Given the description of an element on the screen output the (x, y) to click on. 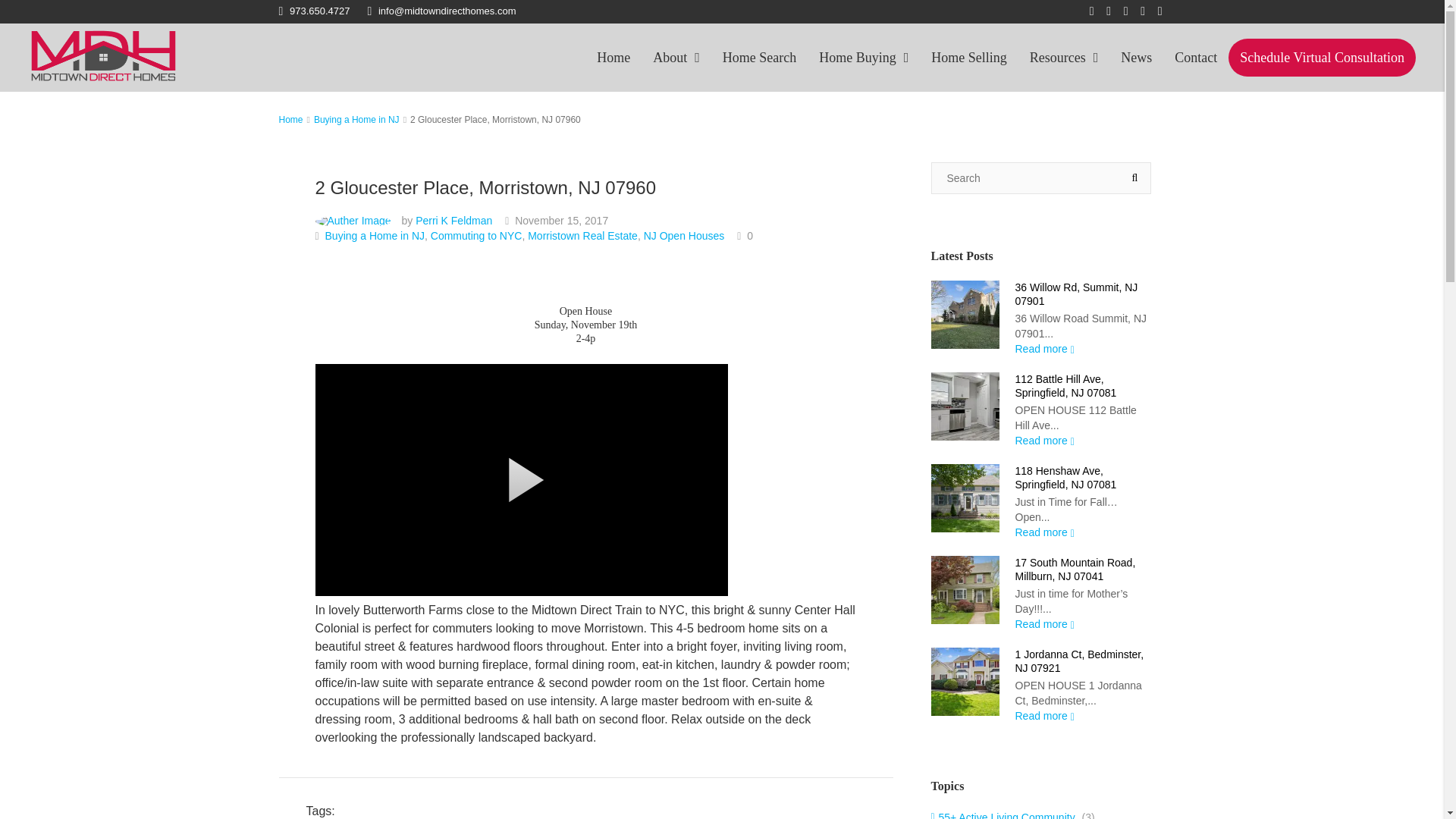
Resources (1063, 57)
Home Search (759, 57)
Schedule Virtual Consultation (1321, 57)
Home Selling (968, 57)
About (676, 57)
Video Player (521, 479)
Contact (1195, 57)
Home Buying (864, 57)
973.650.4727 (314, 10)
